Given the description of an element on the screen output the (x, y) to click on. 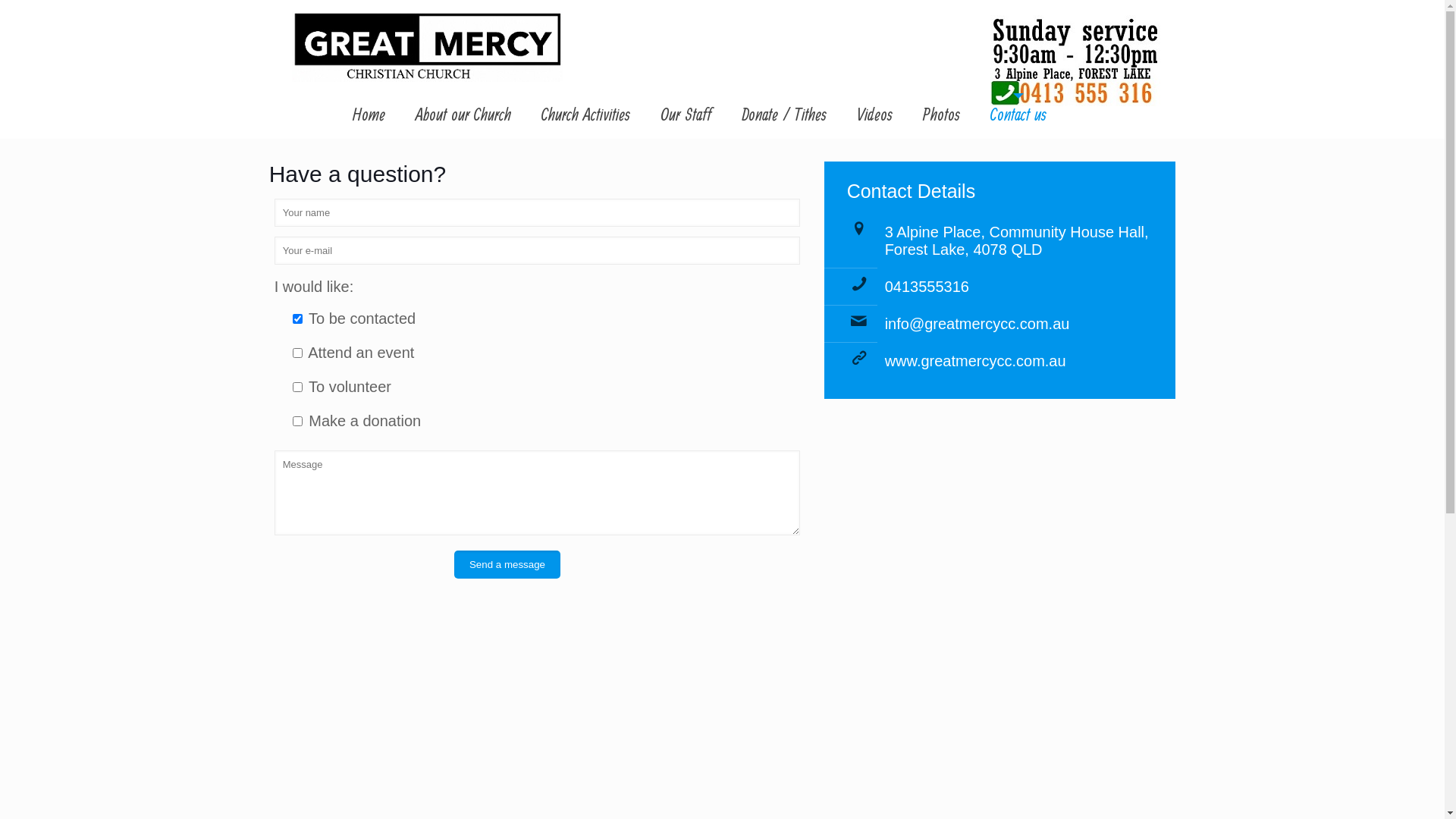
Church Activities Element type: text (585, 115)
Videos Element type: text (874, 115)
Our Staff Element type: text (685, 115)
www.greatmercycc.com.au Element type: text (975, 360)
0413555316 Element type: text (926, 286)
Contact us Element type: text (1018, 115)
Home Element type: text (368, 115)
Photos Element type: text (941, 115)
Great Mercy Christian Church Element type: hover (426, 46)
info@greatmercycc.com.au Element type: text (977, 323)
Send a message Element type: text (507, 564)
About our Church Element type: text (463, 115)
Donate / Tithes Element type: text (783, 115)
